Given the description of an element on the screen output the (x, y) to click on. 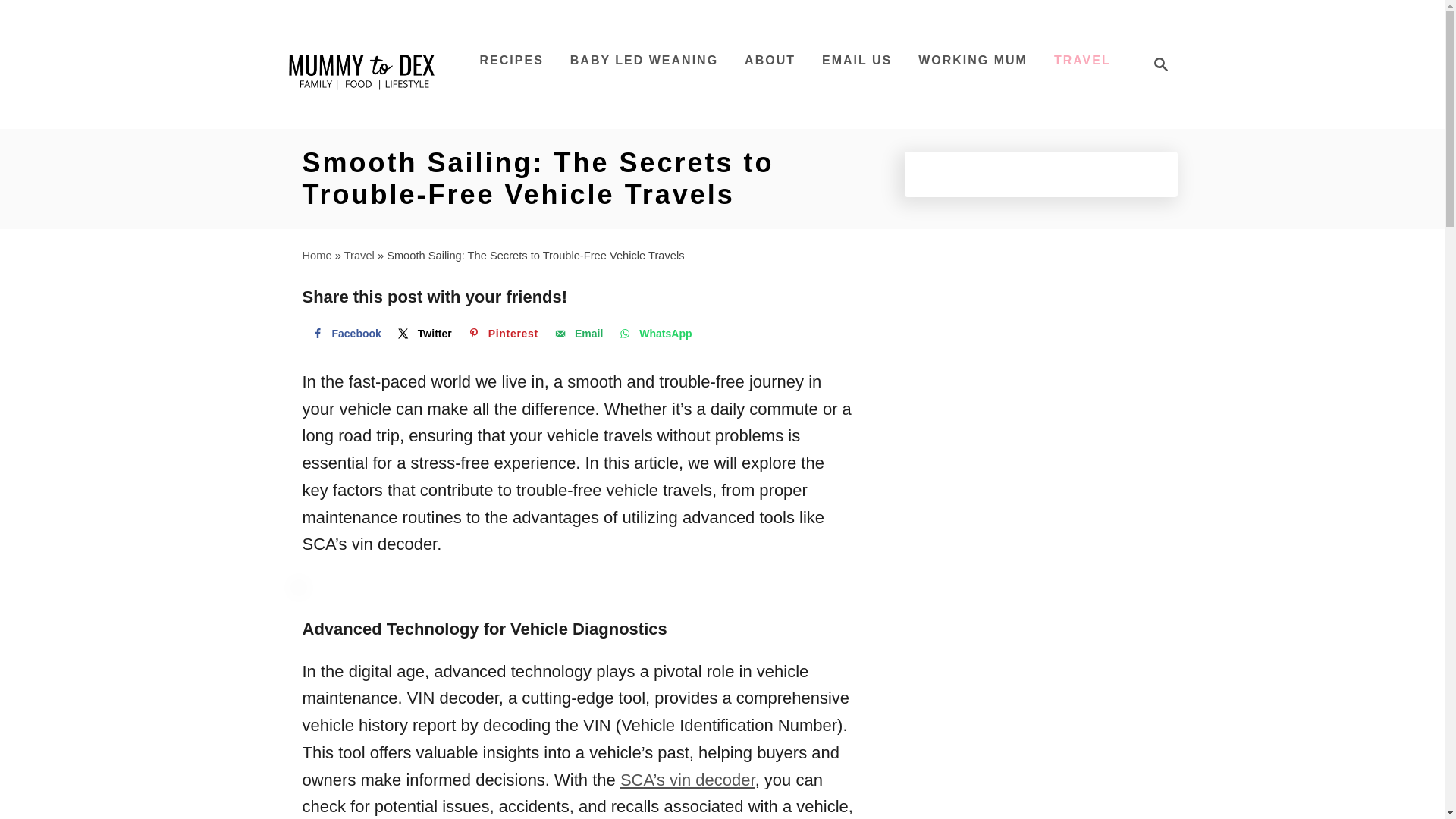
Facebook (1155, 64)
BABY LED WEANING (344, 333)
Share on Facebook (643, 60)
Share on WhatsApp (344, 333)
Travel (654, 333)
Share on X (358, 255)
Mummy to Dex (423, 333)
ABOUT (362, 64)
Twitter (769, 60)
